Given the description of an element on the screen output the (x, y) to click on. 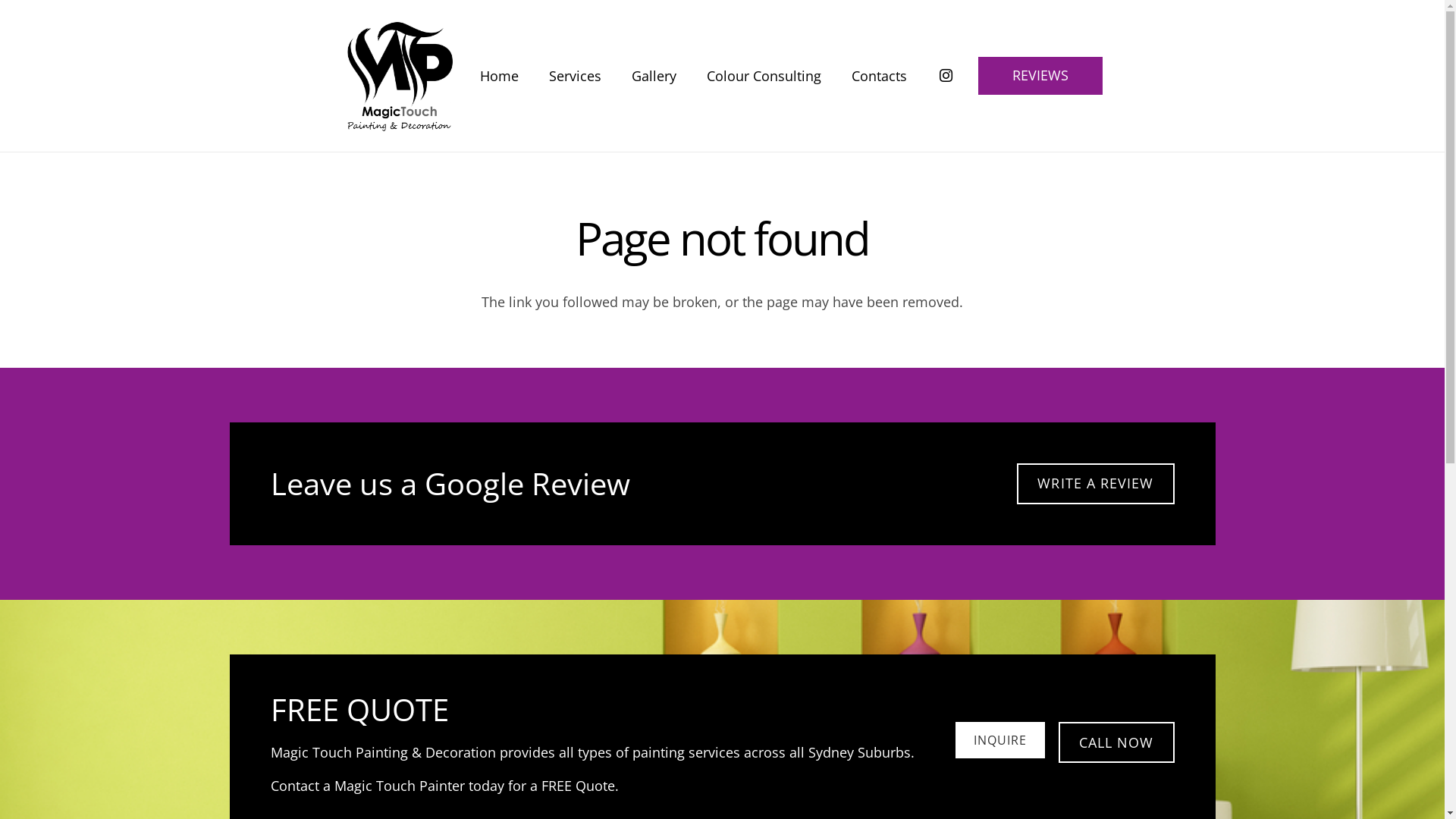
Home Element type: text (498, 75)
Instagram Element type: hover (945, 75)
Colour Consulting Element type: text (763, 75)
WRITE A REVIEW Element type: text (1094, 483)
CALL NOW Element type: text (1116, 741)
Contacts Element type: text (879, 75)
REVIEWS Element type: text (1040, 75)
INQUIRE Element type: text (999, 739)
Services Element type: text (574, 75)
Gallery Element type: text (653, 75)
